Given the description of an element on the screen output the (x, y) to click on. 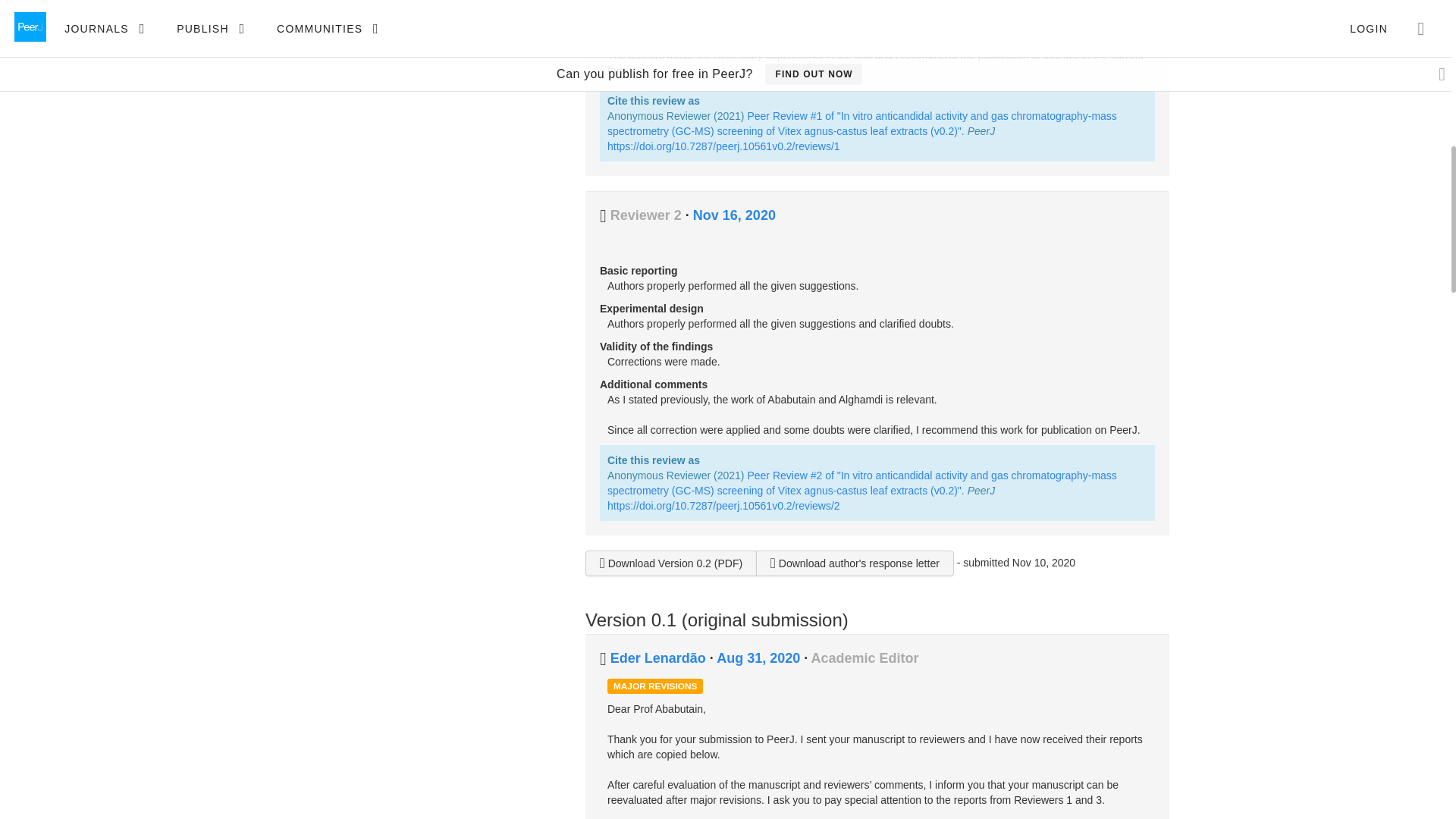
Download author's response letter (854, 563)
Permalink for this review (734, 215)
Aug 31, 2020 (759, 657)
Nov 16, 2020 (734, 215)
